Given the description of an element on the screen output the (x, y) to click on. 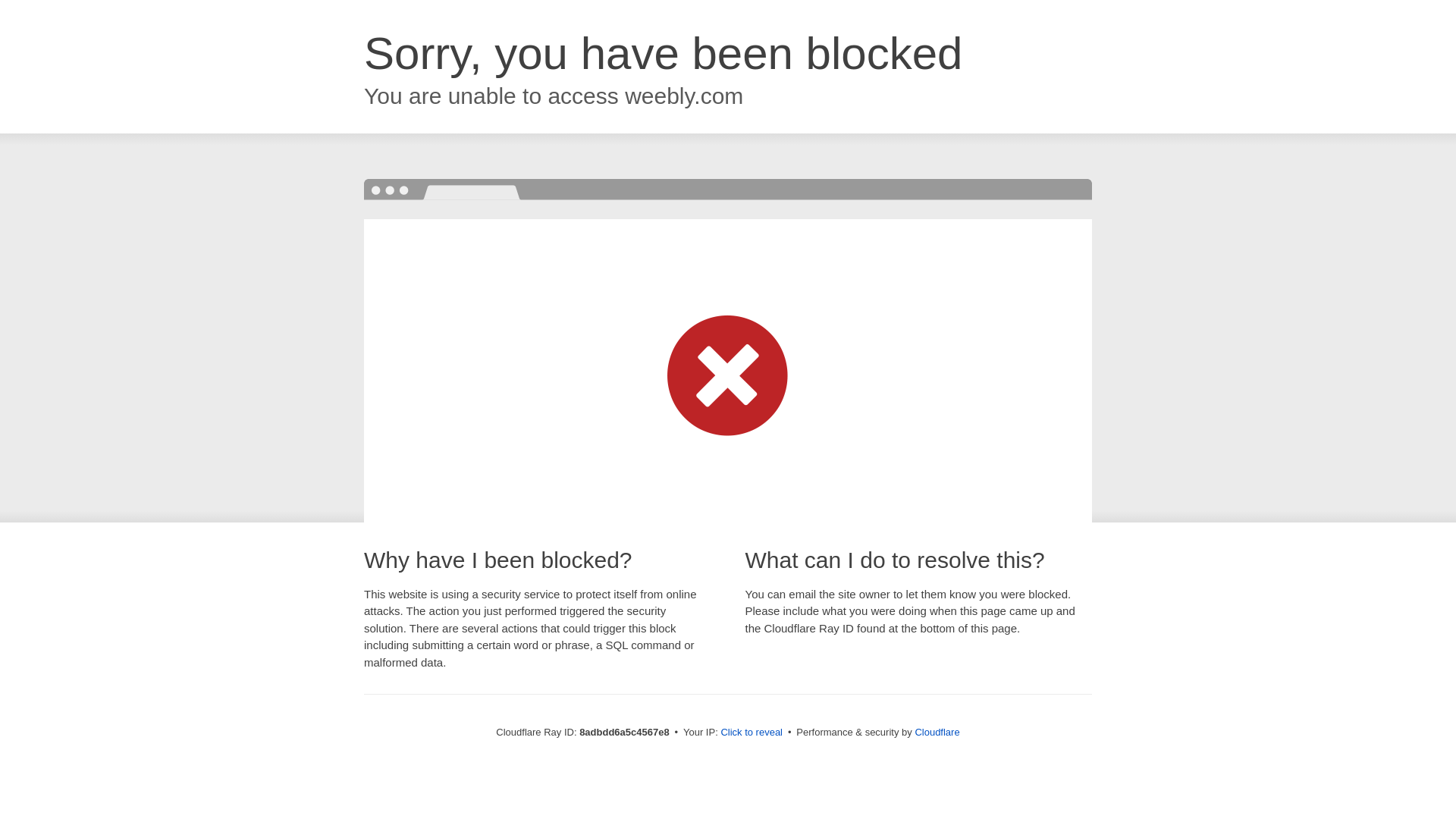
Click to reveal (751, 732)
Cloudflare (936, 731)
